Given the description of an element on the screen output the (x, y) to click on. 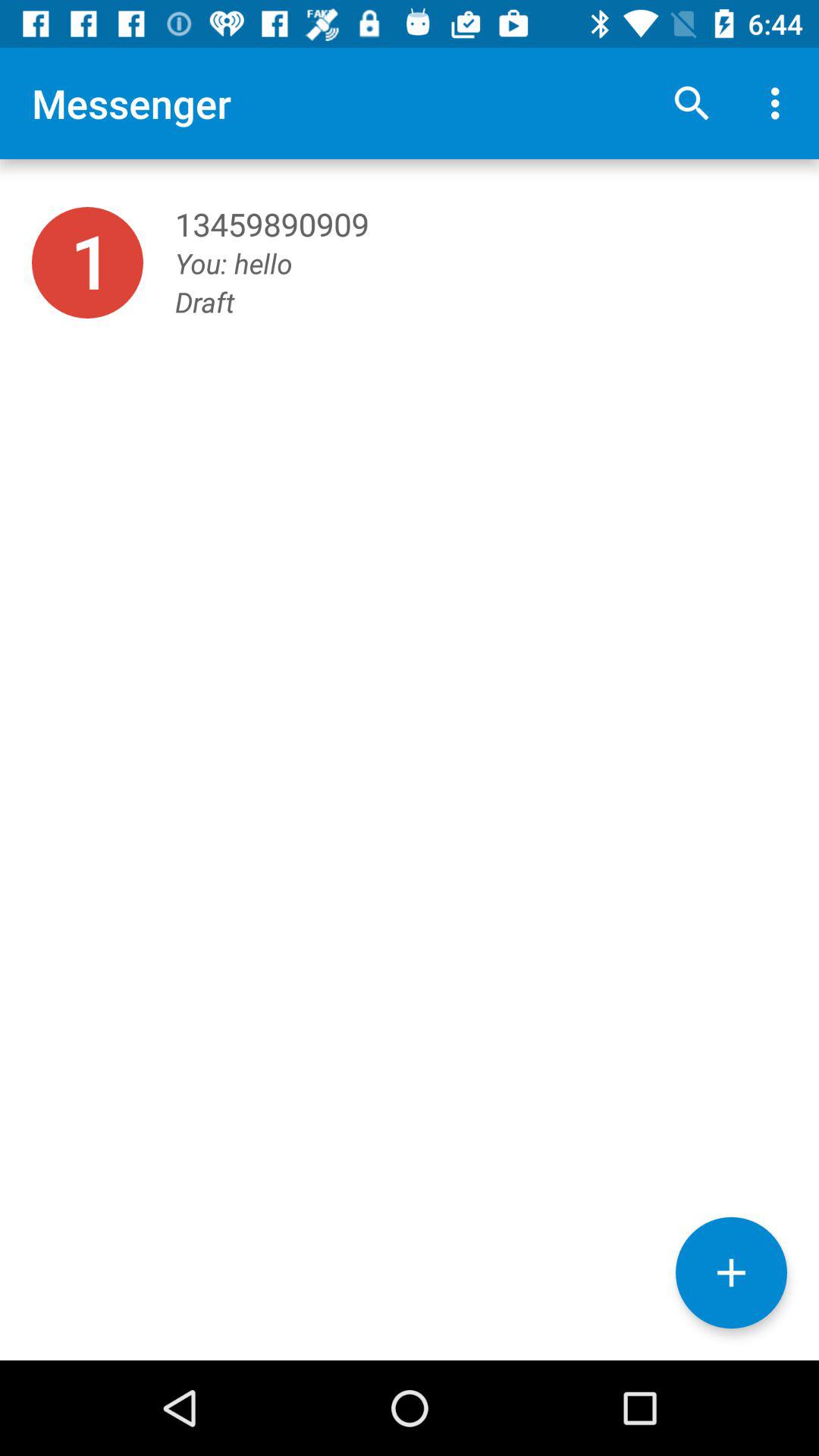
choose the item next to 13459890909 (87, 262)
